Given the description of an element on the screen output the (x, y) to click on. 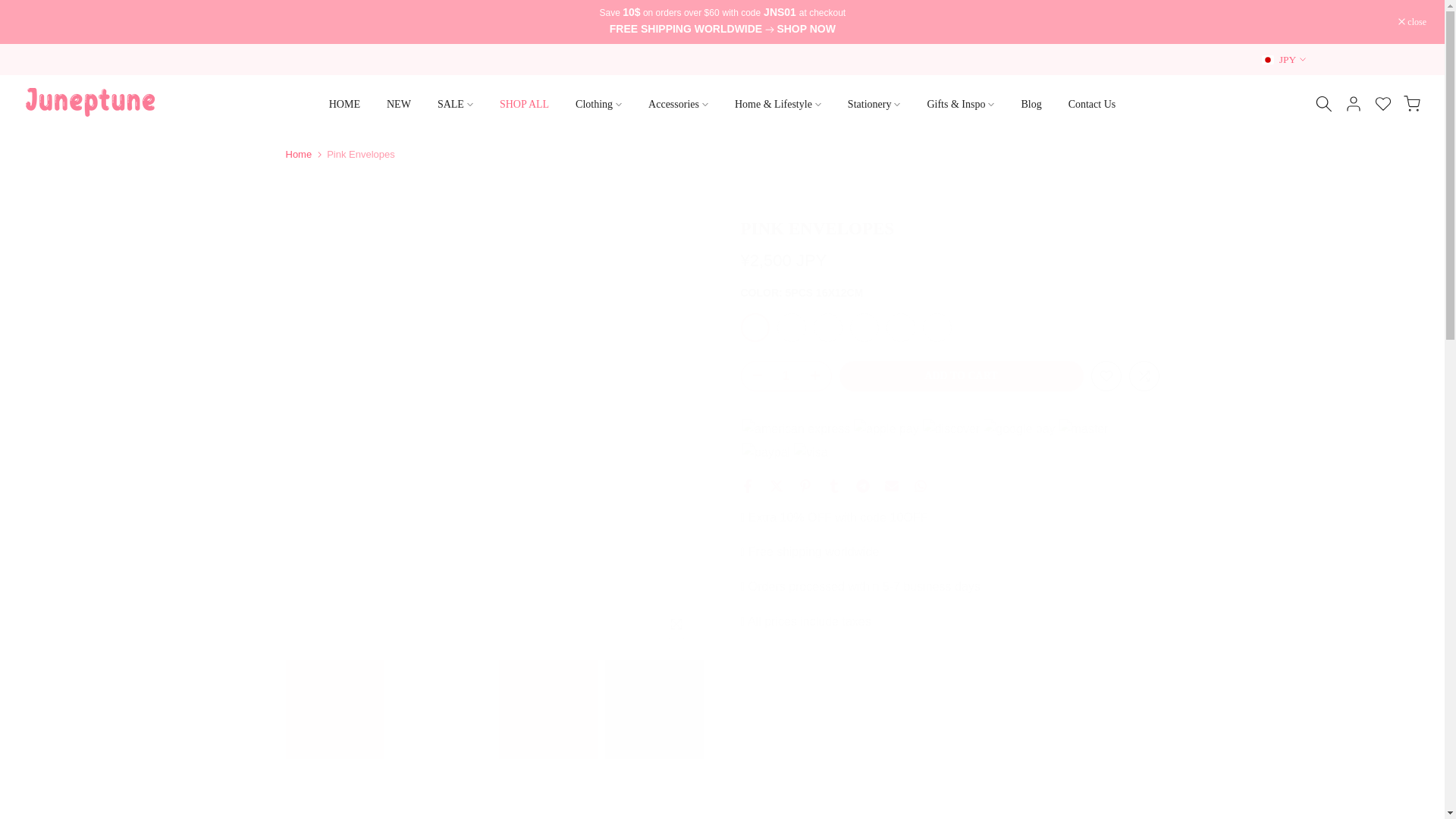
SHOP NOW (805, 29)
10pcs Blank Sheets (899, 327)
Share on Pinterest (803, 486)
10pcs Bunny Sheets (935, 327)
10pcs Line Sheets (862, 327)
Share on Telegram (862, 486)
Share on WhatsApp (919, 486)
Share on Tumblr (833, 486)
5pcs 16x12cm (753, 327)
5pcs 19x13cm (790, 327)
JPY (1284, 59)
Share on Email (890, 486)
close (1411, 21)
Share on Twitter (775, 486)
Share on Facebook (746, 486)
